Given the description of an element on the screen output the (x, y) to click on. 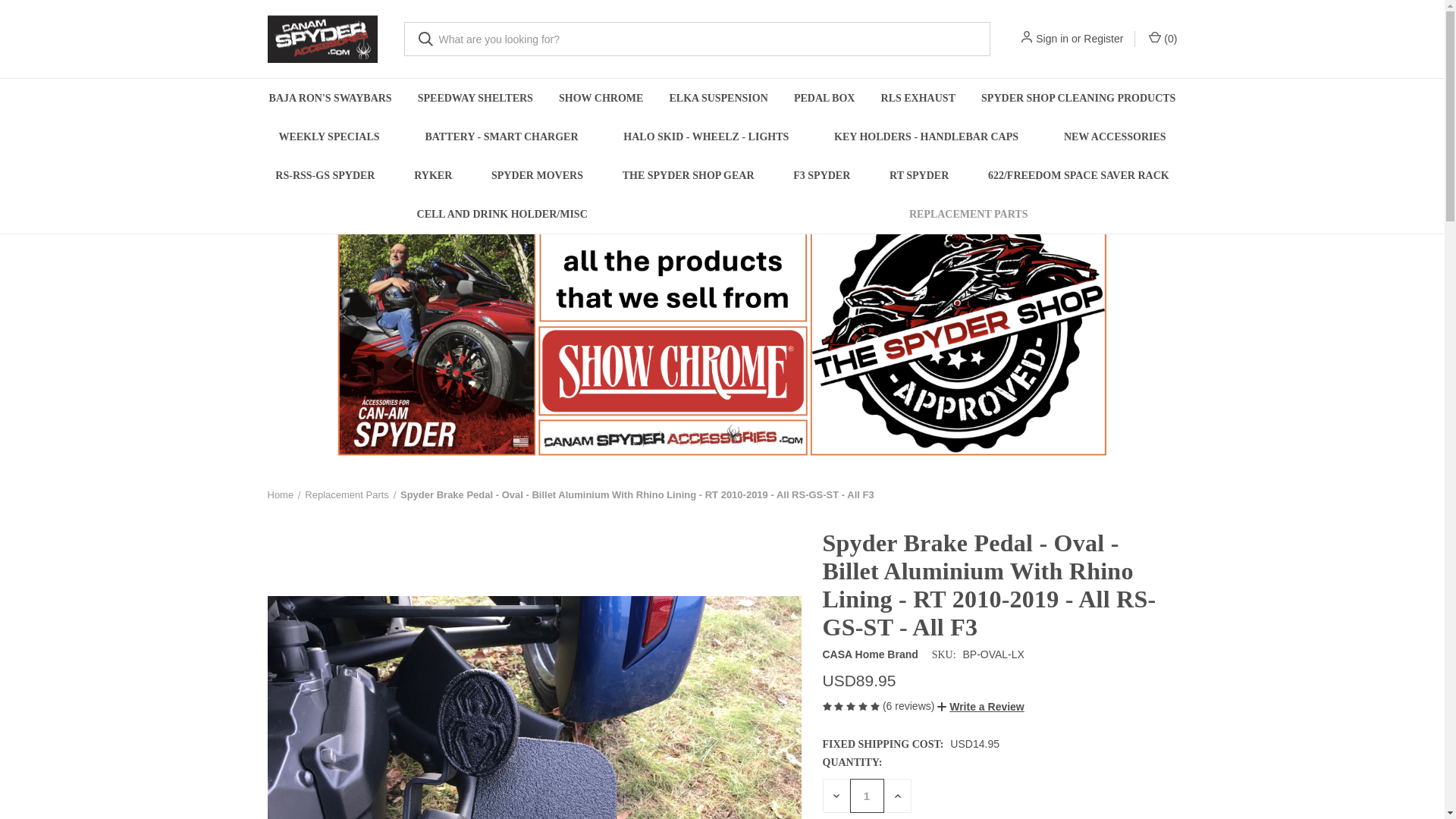
SPEEDWAY SHELTERS (475, 97)
F3 SPYDER (821, 175)
ELKA SUSPENSION (718, 97)
KEY HOLDERS - HANDLEBAR CAPS (925, 136)
Can Am Spyder Accessories (321, 39)
SPYDER SHOP CLEANING PRODUCTS (1078, 97)
1 (865, 795)
RLS EXHAUST (917, 97)
RS-RSS-GS SPYDER (325, 175)
Sign in (1051, 38)
HALO SKID - WHEELZ - LIGHTS (704, 136)
BAJA RON'S SWAYBARS (330, 97)
RYKER (432, 175)
Register (1102, 38)
